Given the description of an element on the screen output the (x, y) to click on. 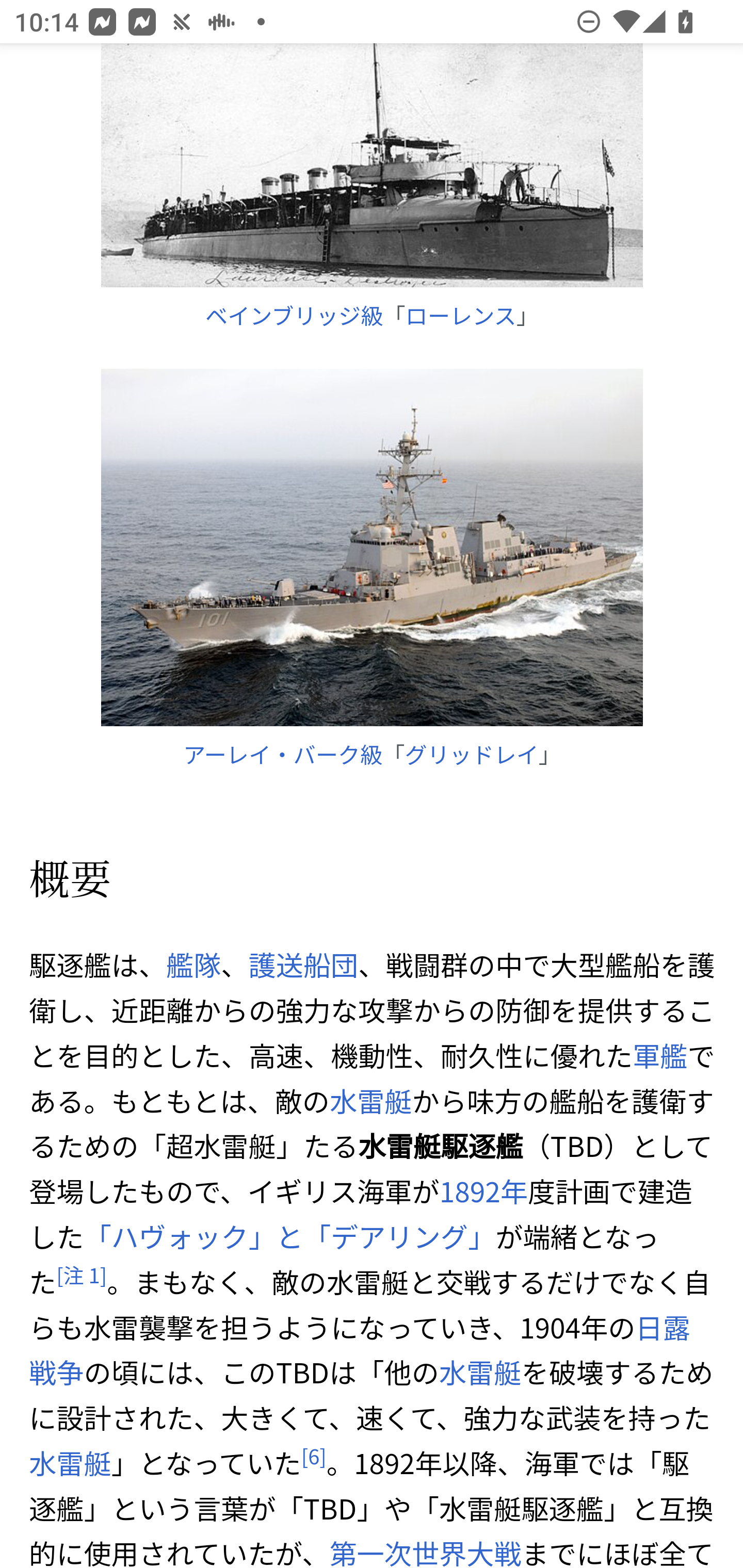
ベインブリッジ級 (293, 314)
ローレンス (460, 314)
アーレイ・バーク級 (283, 752)
グリッドレイ (471, 752)
艦隊 (193, 964)
護送船団 (302, 964)
軍艦 (660, 1054)
水雷艇 (370, 1099)
1892年 (483, 1191)
「ハヴォック」と「デアリング」 (289, 1236)
[注 ] [注  1 ] (81, 1275)
日露戦争 (359, 1350)
水雷艇 (478, 1372)
[] [ 6 ] (312, 1456)
水雷艇 (70, 1462)
第一次世界大戦 (424, 1549)
